Given the description of an element on the screen output the (x, y) to click on. 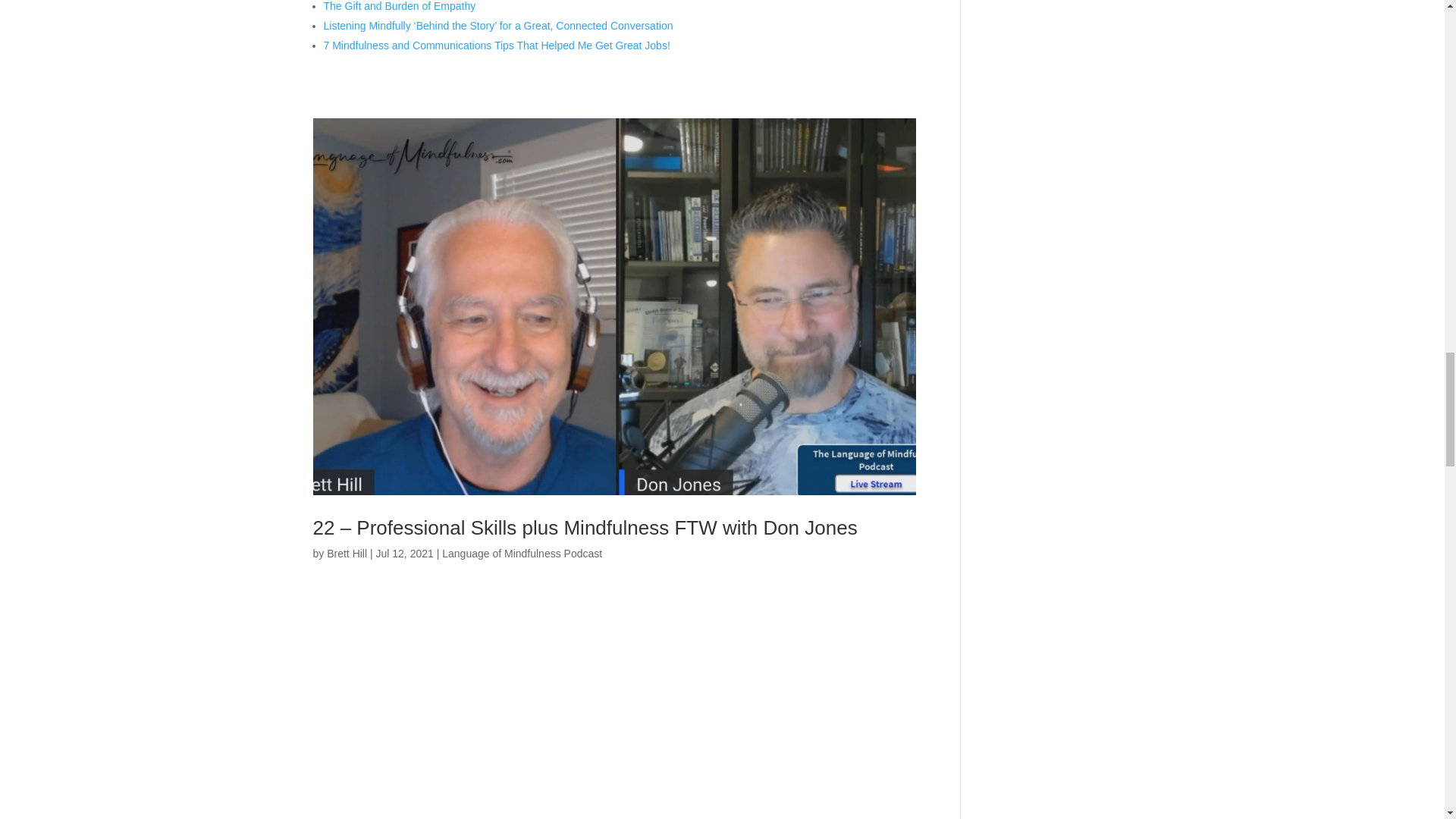
Language of Mindfulness Podcast (522, 553)
Posts by Brett Hill (346, 553)
Brett Hill (346, 553)
The Gift and Burden of Empathy (399, 6)
